Given the description of an element on the screen output the (x, y) to click on. 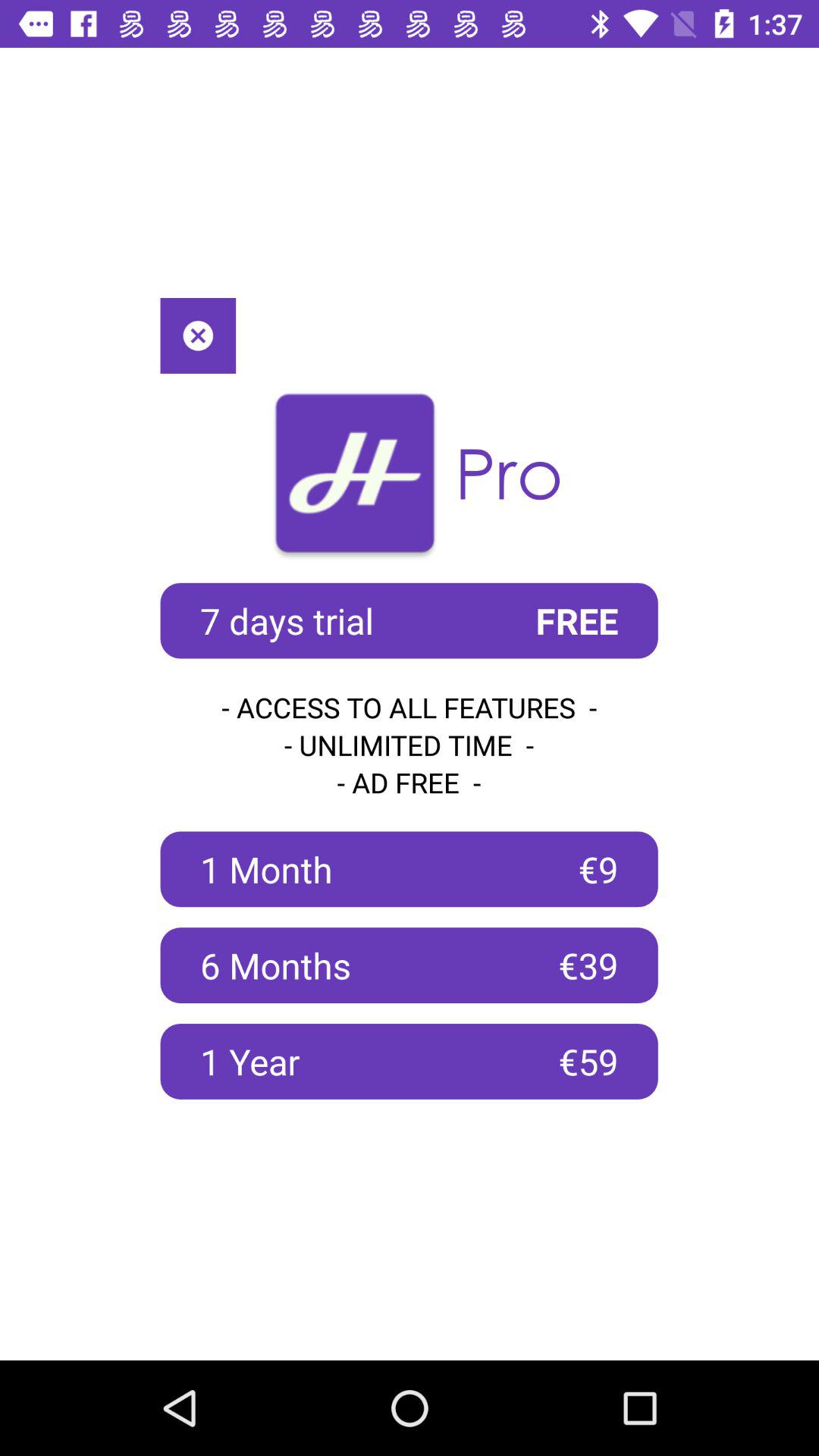
click the item at the top left corner (198, 335)
